Given the description of an element on the screen output the (x, y) to click on. 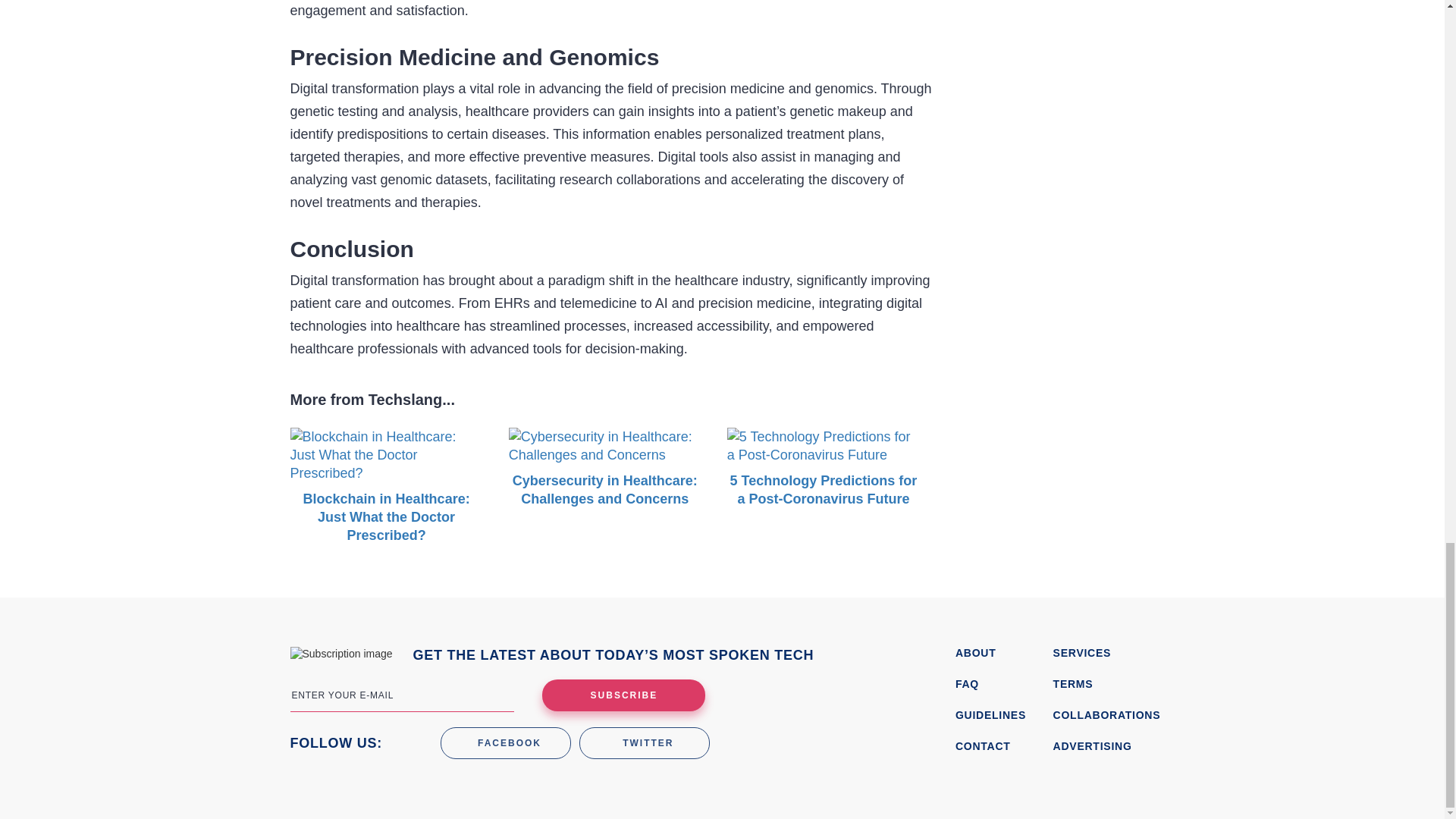
Subscribe (622, 695)
TWITTER (644, 743)
ABOUT (1000, 652)
Blockchain in Healthcare: Just What the Doctor Prescribed? (385, 495)
Cybersecurity in Healthcare: Challenges and Concerns (604, 472)
5 Technology Predictions for a Post-Coronavirus Future (823, 472)
FACEBOOK (505, 743)
Subscribe (622, 695)
